Given the description of an element on the screen output the (x, y) to click on. 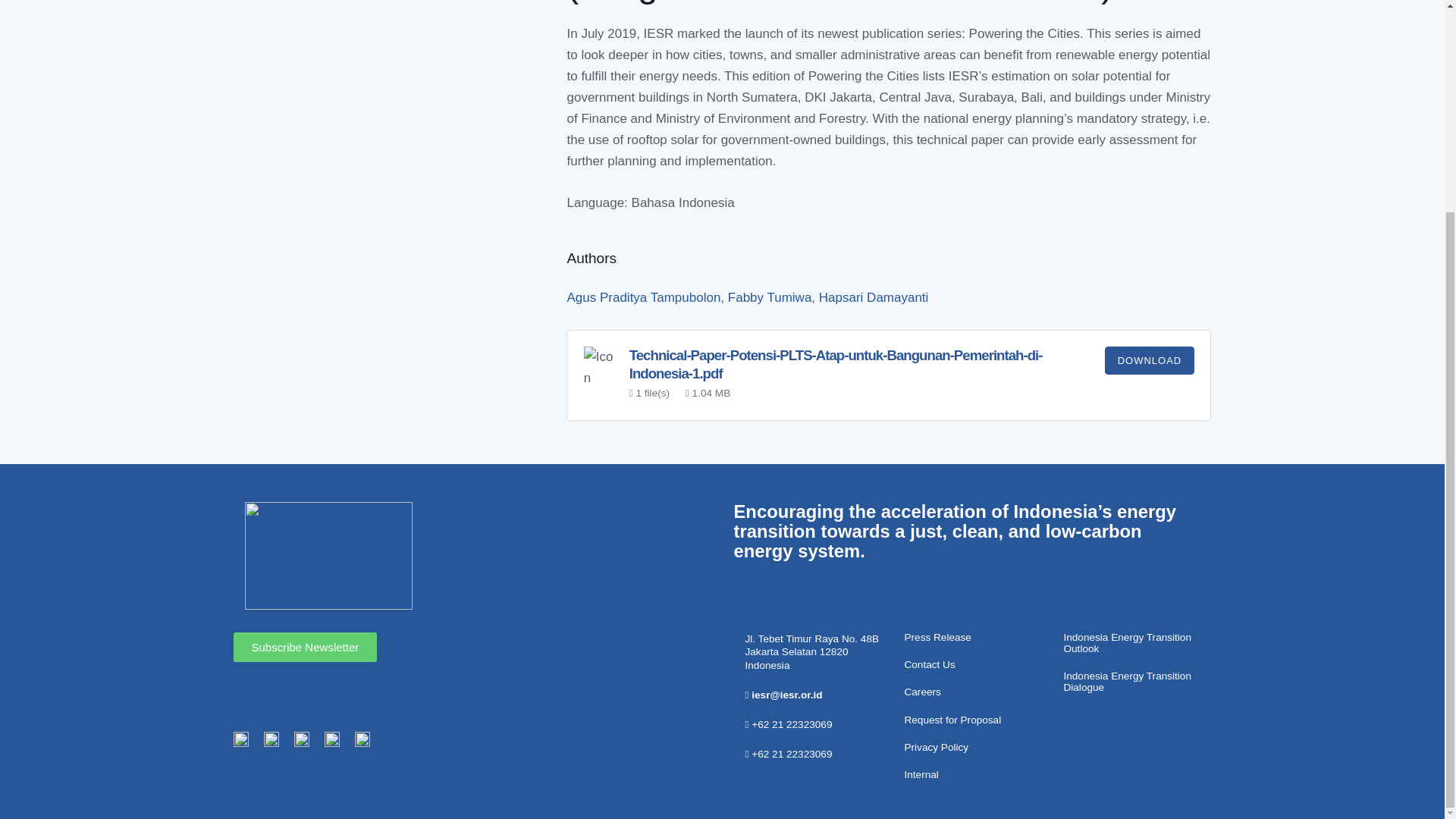
Fabby Tumiwa (770, 297)
Hapsari Damayanti (873, 297)
Agus Praditya Tampubolon (643, 297)
